Given the description of an element on the screen output the (x, y) to click on. 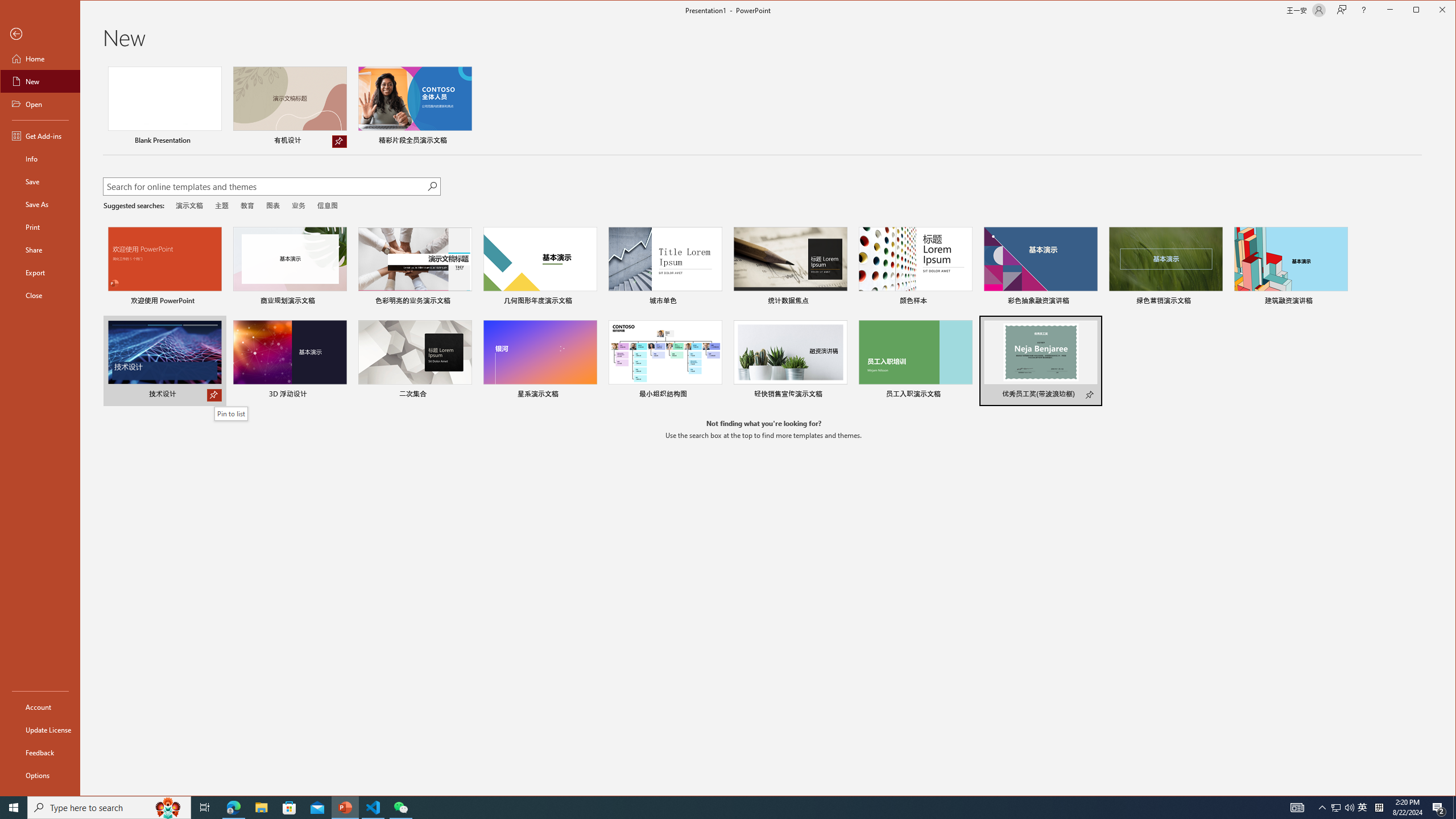
Update License (40, 729)
Print (40, 226)
Start searching (431, 185)
Account (40, 706)
